Given the description of an element on the screen output the (x, y) to click on. 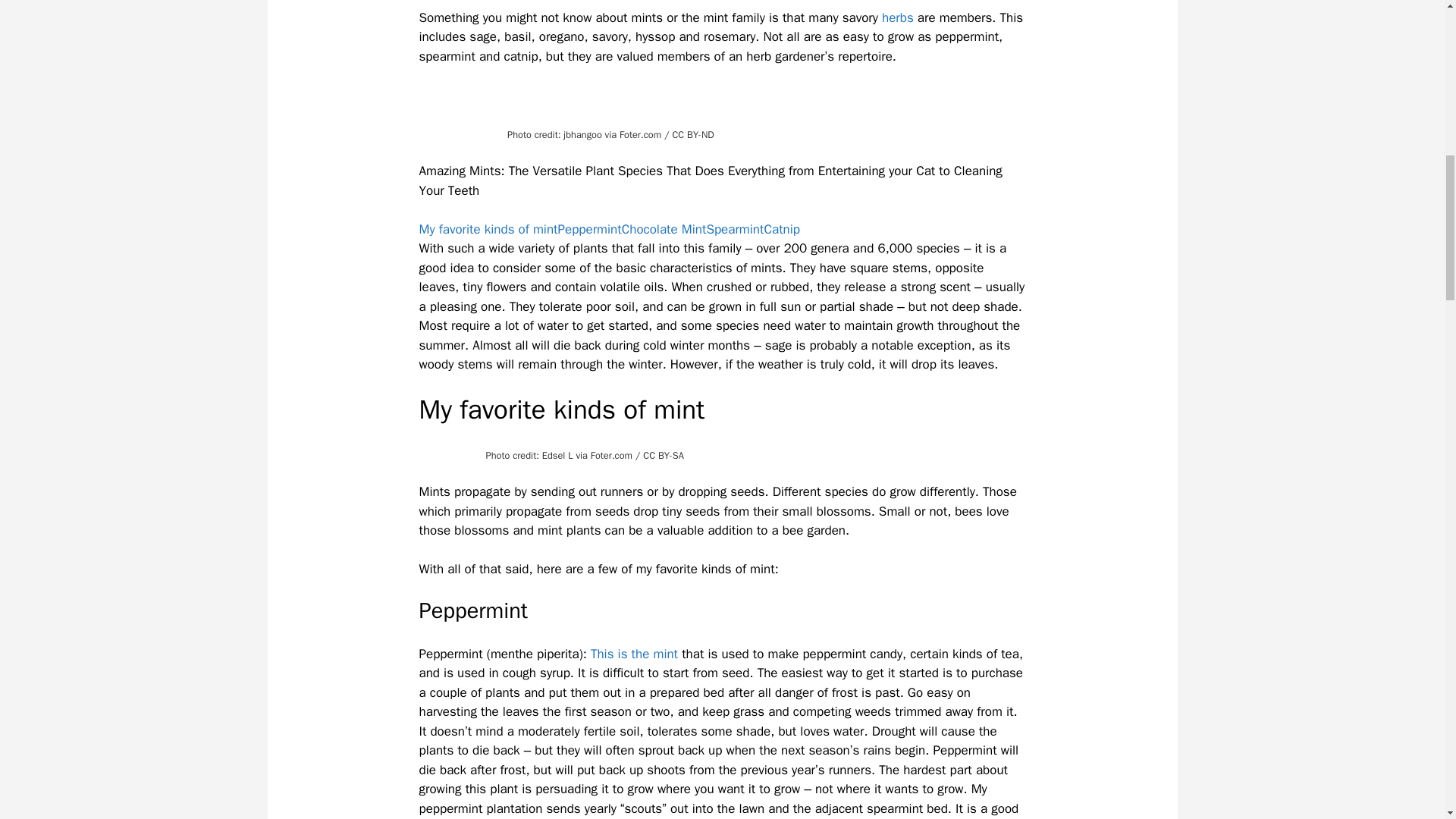
Chocolate Mint (663, 229)
Peppermint (589, 229)
herbs (898, 17)
Spearmint (734, 229)
Catnip (780, 229)
This is the mint (634, 653)
My favorite kinds of mint (488, 229)
